Given the description of an element on the screen output the (x, y) to click on. 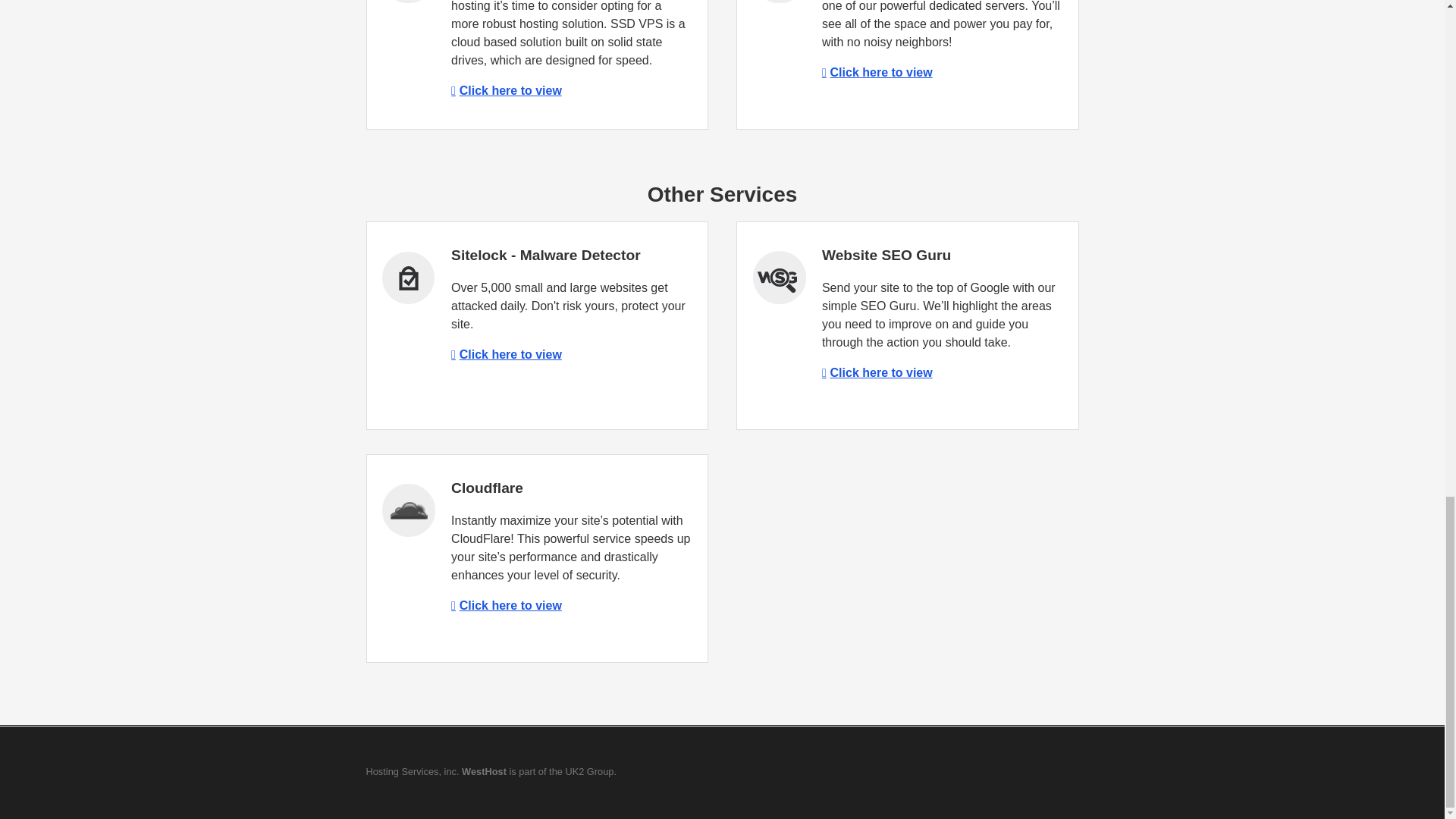
WestHost (483, 771)
Click here to view (877, 72)
Click here to view (877, 372)
Click here to view (506, 90)
Click here to view (506, 604)
Click here to view (506, 354)
